Given the description of an element on the screen output the (x, y) to click on. 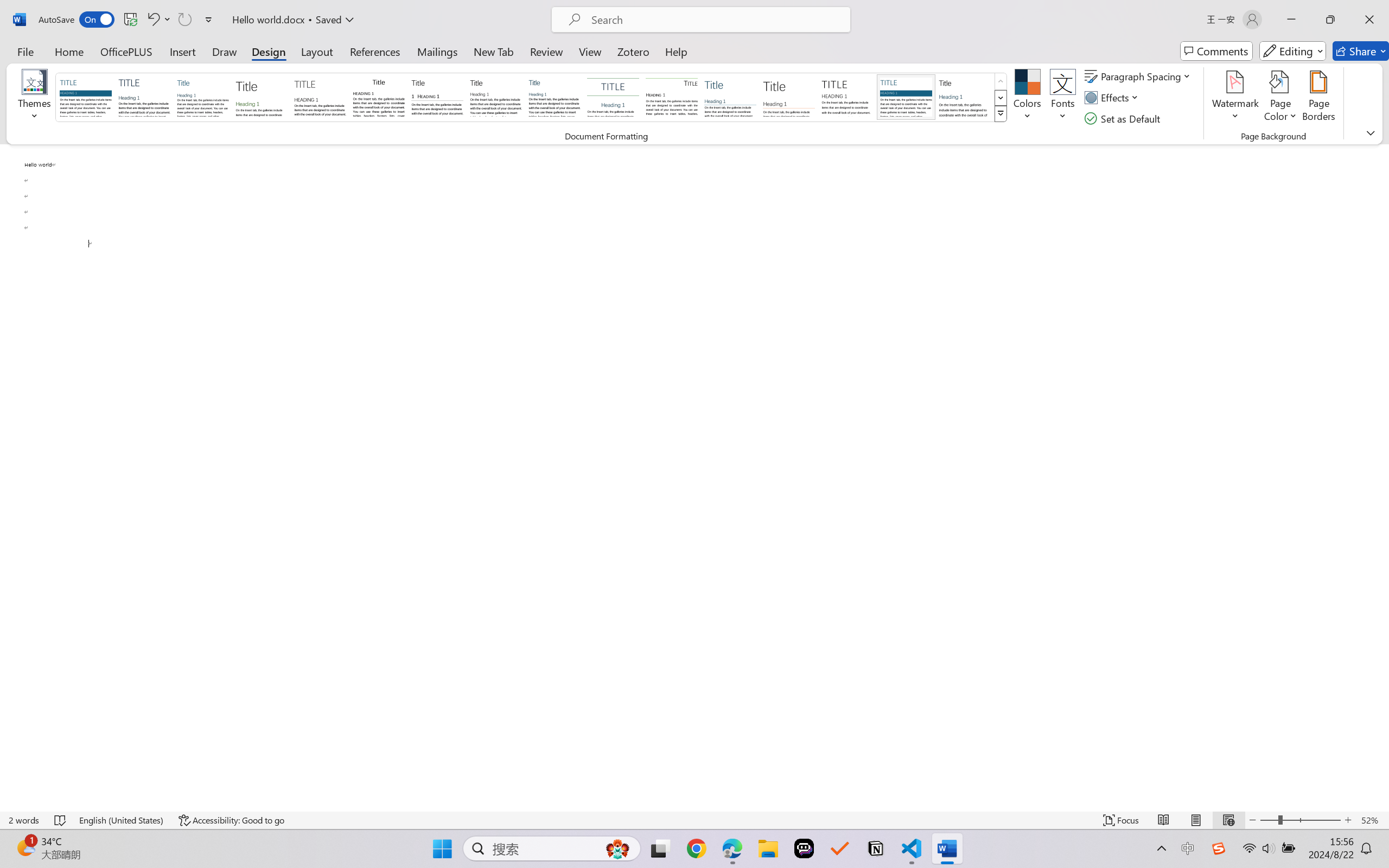
Customize Quick Access Toolbar (208, 19)
Basic (Simple) (202, 96)
Zoom 52% (1372, 819)
Spelling and Grammar Check No Errors (60, 819)
Lines (Simple) (730, 96)
Close (1369, 19)
Class: NetUIImage (1000, 114)
AutomationID: DynamicSearchBoxGleamImage (617, 848)
Share (1360, 51)
Design (268, 51)
Watermark (1235, 97)
OfficePLUS (126, 51)
Black & White (Classic) (379, 96)
Page Color (1280, 97)
Style Set (1000, 113)
